Given the description of an element on the screen output the (x, y) to click on. 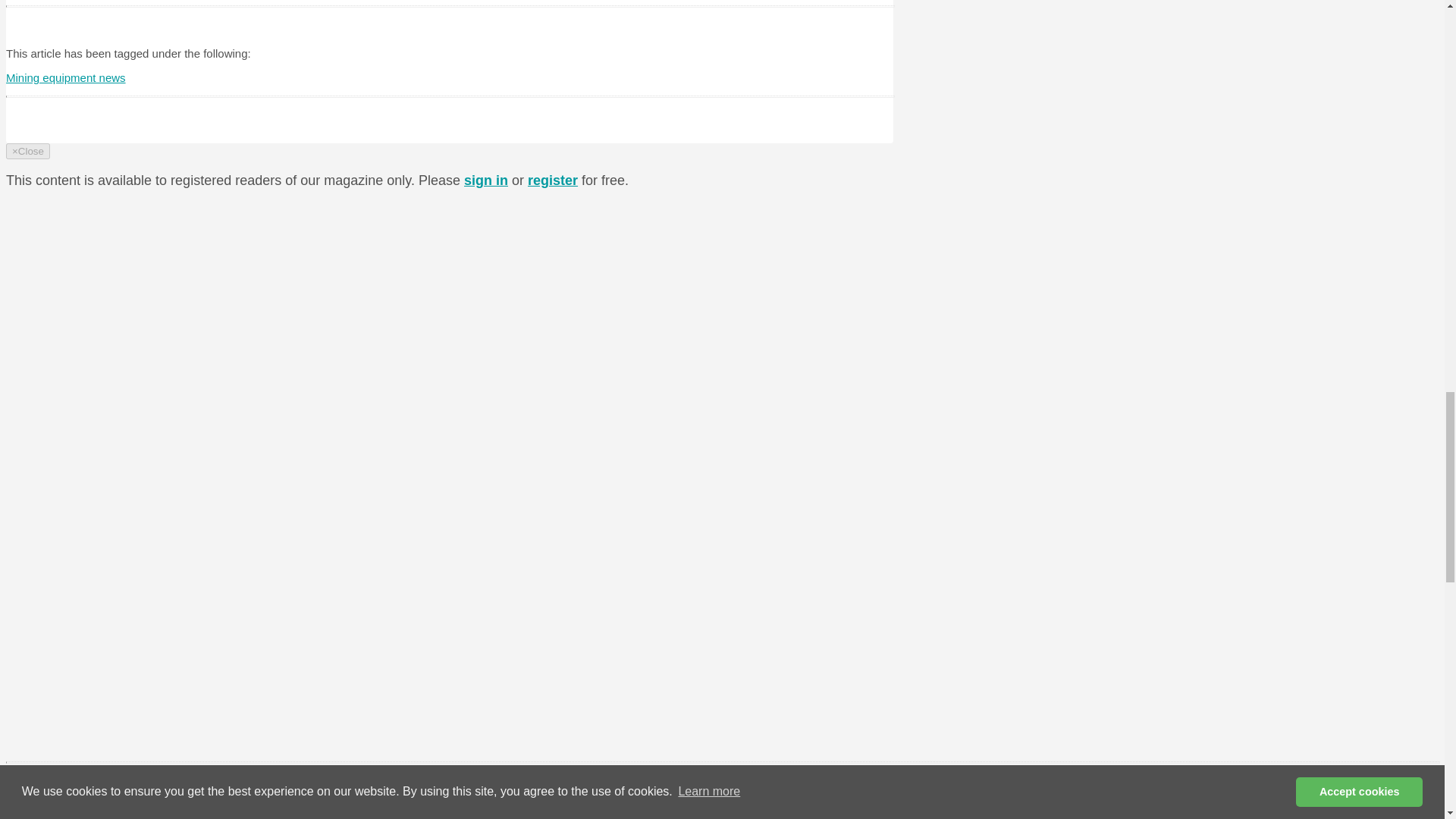
3rd party ad content (774, 651)
sign in (486, 180)
register (552, 180)
3rd party ad content (774, 234)
3rd party ad content (774, 442)
Mining equipment news (65, 77)
